Given the description of an element on the screen output the (x, y) to click on. 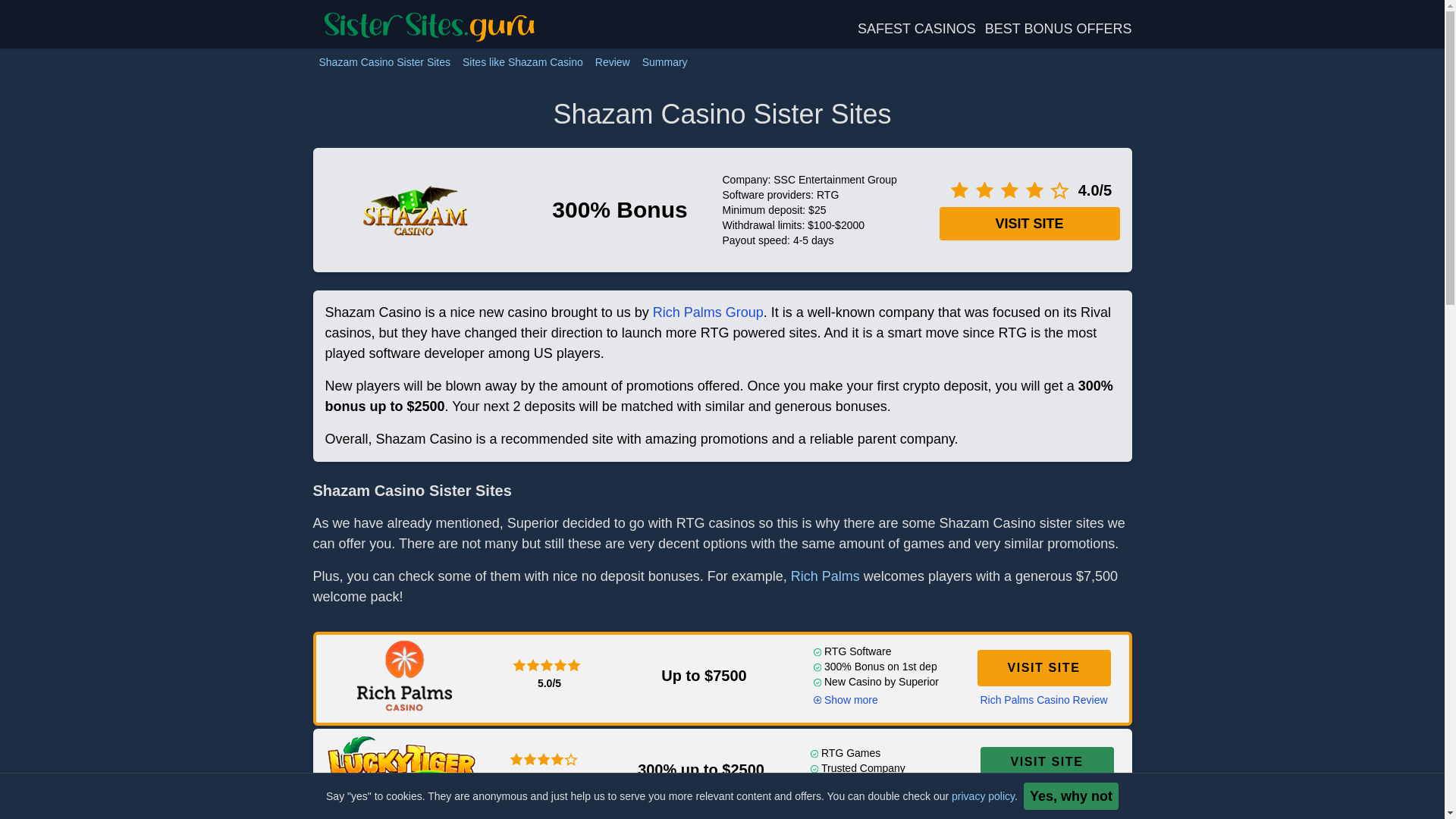
SAFEST CASINOS (916, 28)
Shazam Casino Sister Sites (385, 61)
VISIT SITE (1042, 668)
Show more (842, 785)
BEST BONUS OFFERS (1058, 28)
Review (612, 61)
Lucky Tiger Review (1047, 790)
Summary (665, 61)
VISIT SITE (1029, 223)
Show more (844, 699)
Rich Palms Casino Review (1042, 699)
Rich Palms Group (707, 312)
Rich Palms (825, 575)
Sites like Shazam Casino (523, 61)
VISIT SITE (1046, 761)
